Given the description of an element on the screen output the (x, y) to click on. 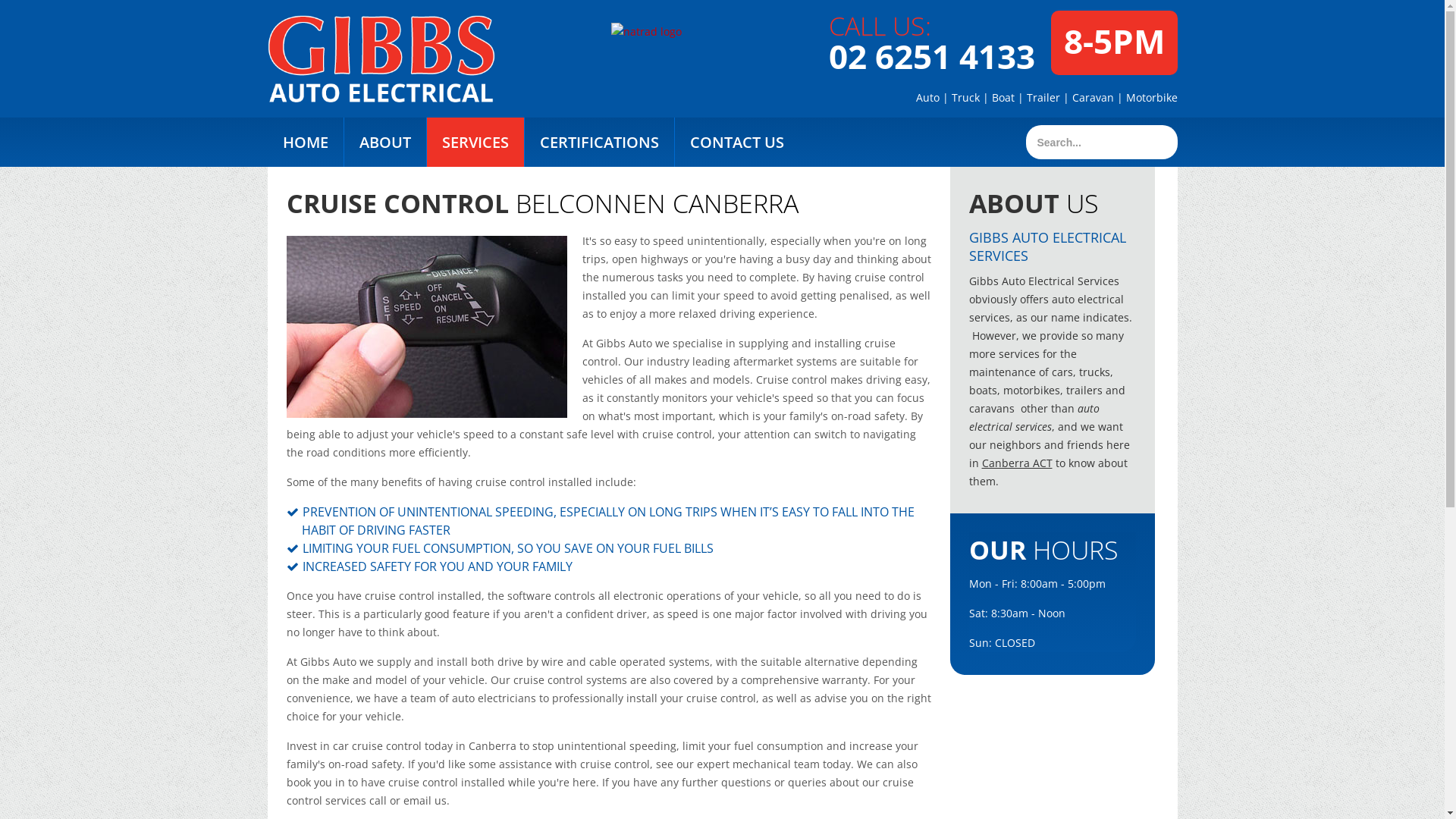
SERVICES Element type: text (474, 141)
02 6251 4133 Element type: text (931, 55)
HOME Element type: text (304, 141)
ABOUT Element type: text (385, 141)
CERTIFICATIONS Element type: text (599, 141)
CONTACT US Element type: text (736, 141)
